Given the description of an element on the screen output the (x, y) to click on. 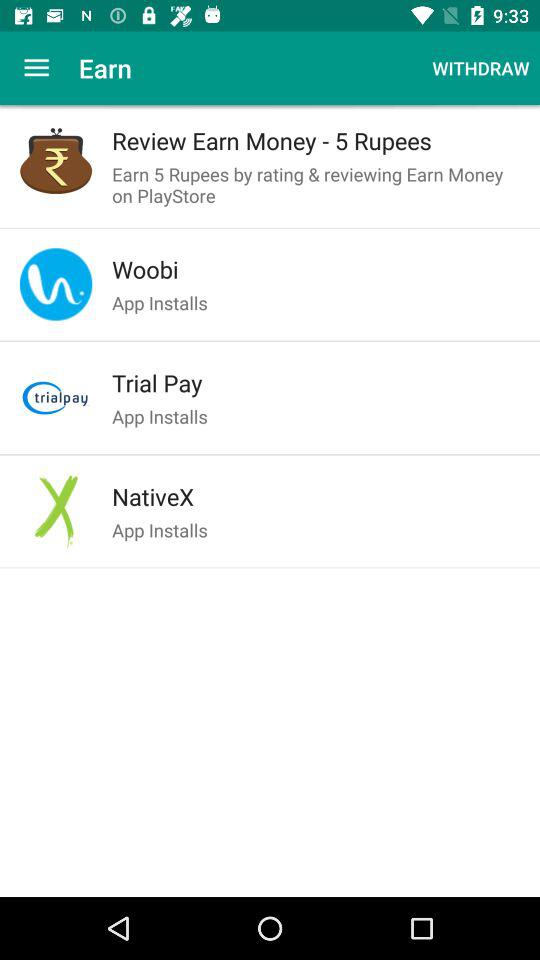
swipe until withdraw icon (480, 67)
